Given the description of an element on the screen output the (x, y) to click on. 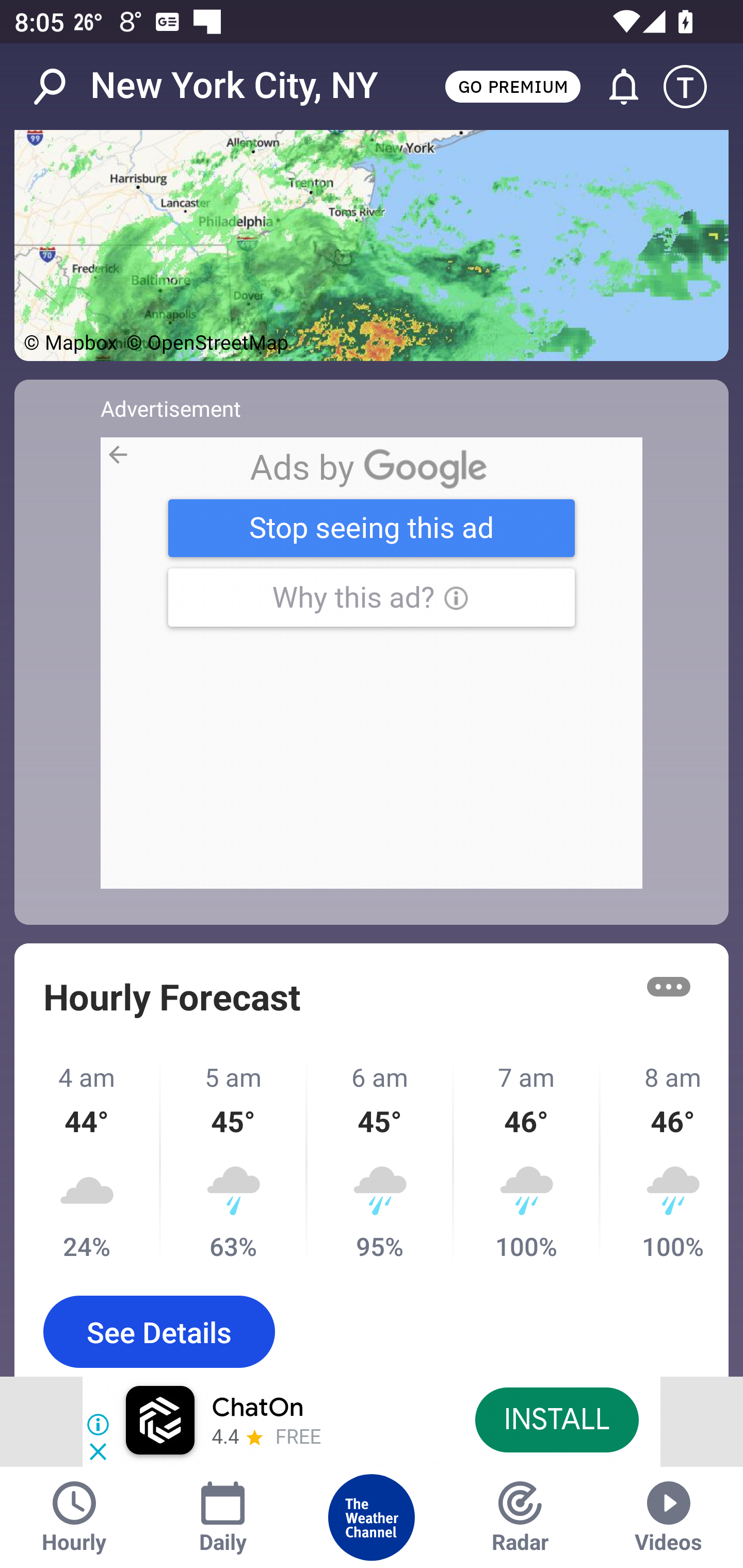
Search (59, 86)
Go to Alerts and Notifications (614, 86)
Setting icon T (694, 86)
New York City, NY (234, 85)
GO PREMIUM (512, 85)
See Map Details (371, 245)
More options (668, 986)
4 am 44° 24% (87, 1161)
5 am 45° 63% (234, 1161)
6 am 45° 95% (380, 1161)
7 am 46° 100% (526, 1161)
8 am 46° 100% (664, 1161)
See Details (158, 1331)
INSTALL (556, 1419)
ChatOn (257, 1407)
Hourly Tab Hourly (74, 1517)
Daily Tab Daily (222, 1517)
Radar Tab Radar (519, 1517)
Videos Tab Videos (668, 1517)
